Given the description of an element on the screen output the (x, y) to click on. 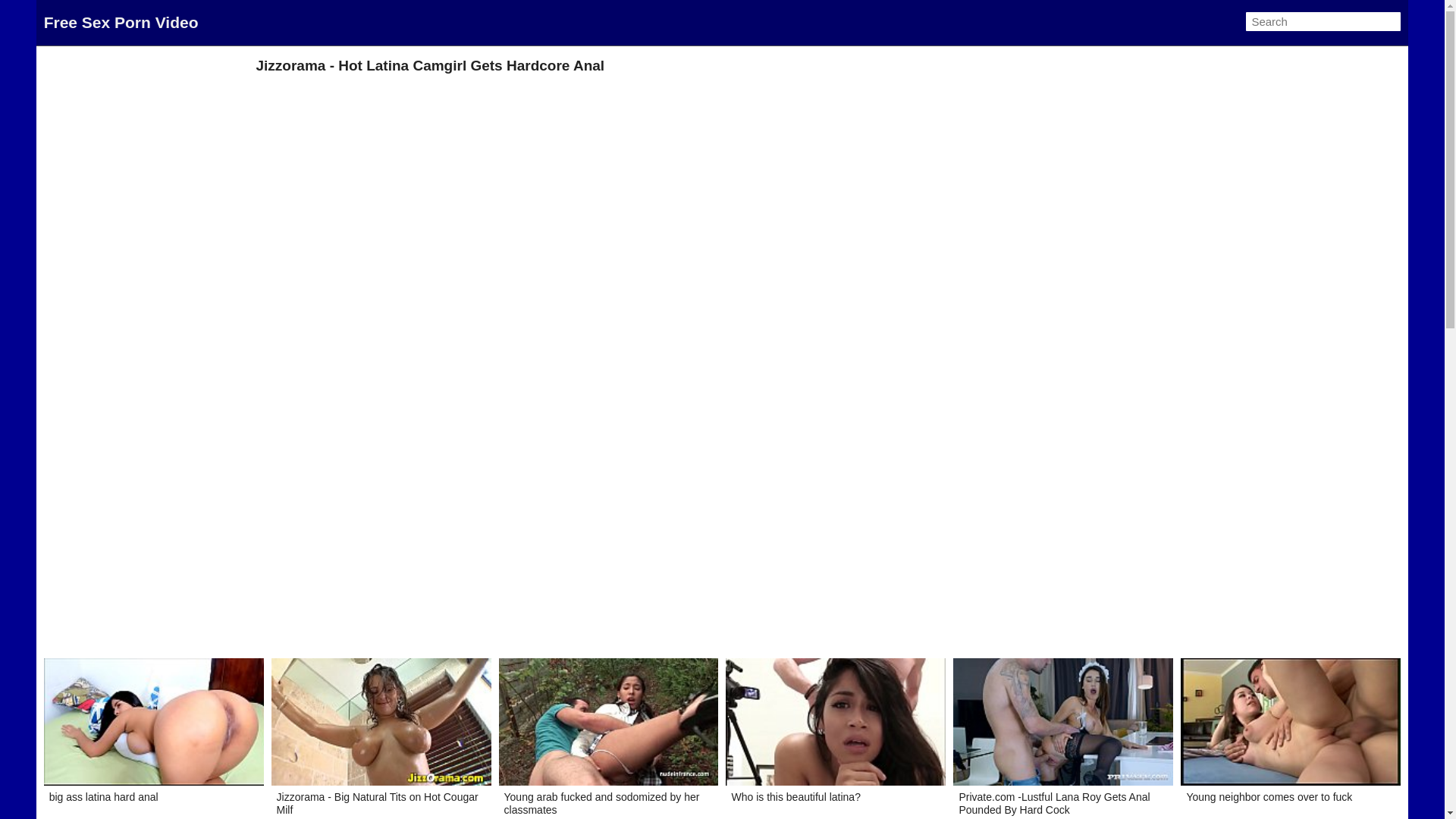
Free Sex Porn Video Element type: text (120, 22)
